Given the description of an element on the screen output the (x, y) to click on. 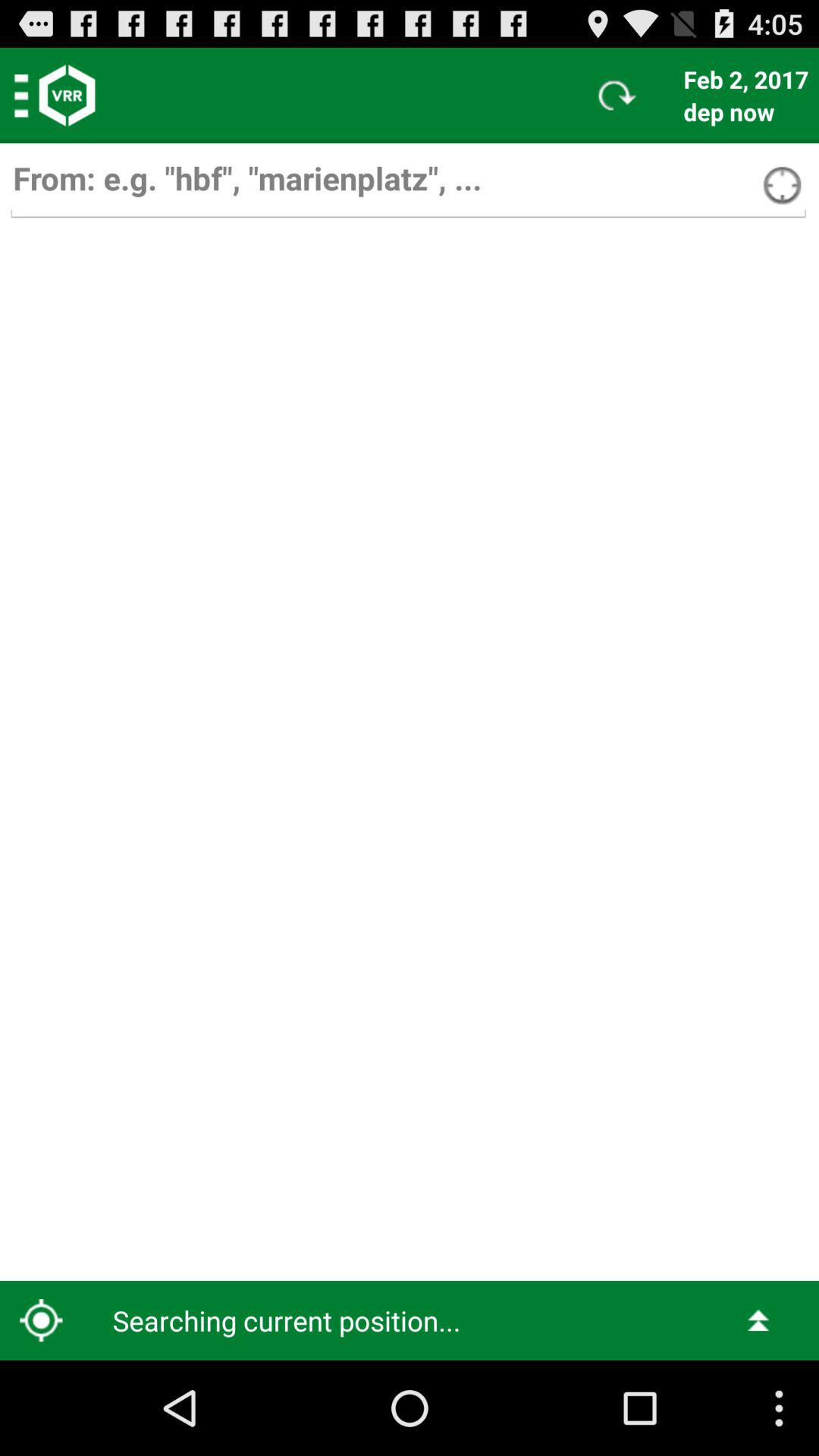
select the item at the top (407, 185)
